Given the description of an element on the screen output the (x, y) to click on. 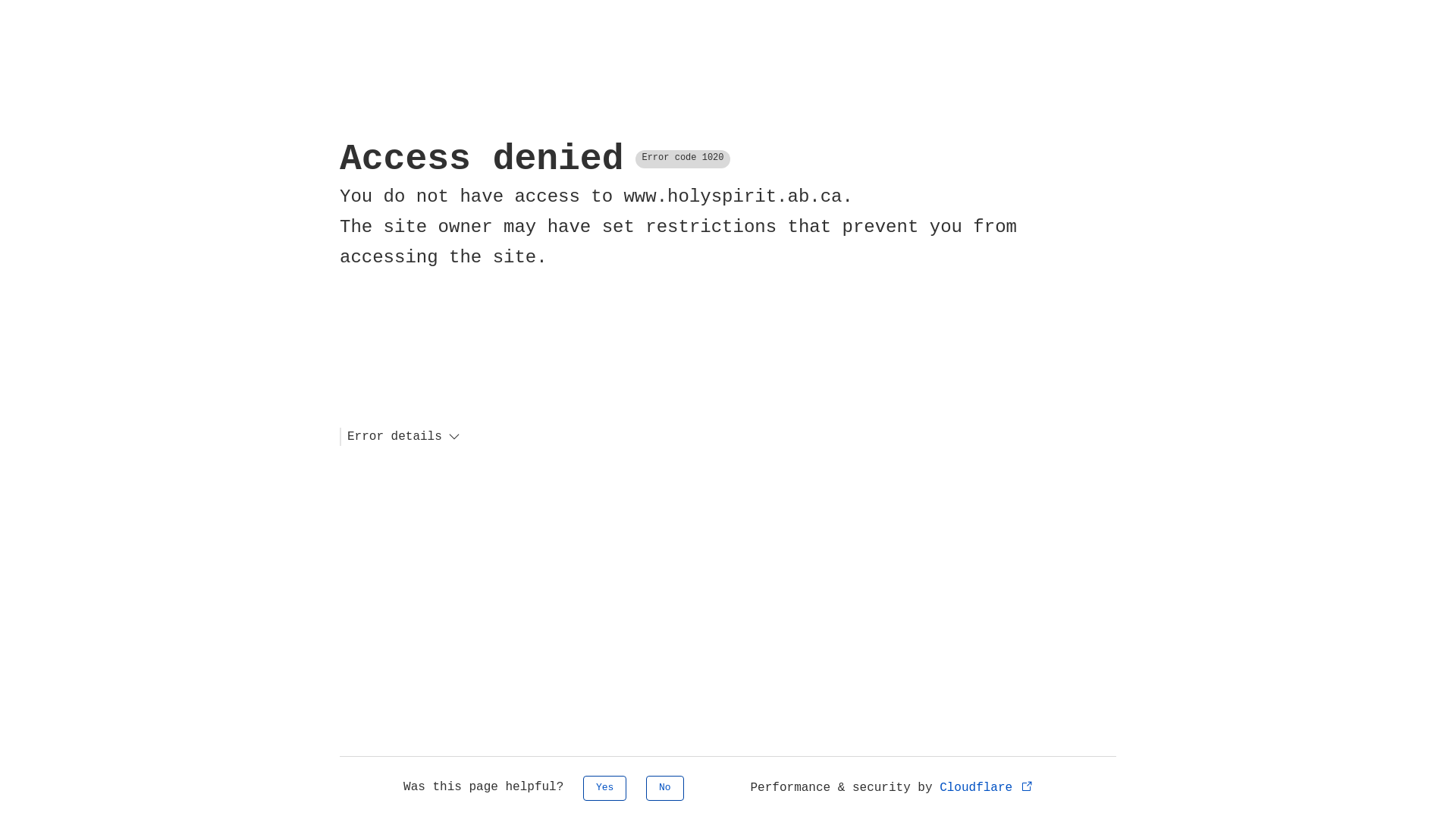
Opens in new tab Element type: hover (1027, 785)
Yes Element type: text (604, 787)
Cloudflare Element type: text (986, 787)
No Element type: text (665, 787)
